Given the description of an element on the screen output the (x, y) to click on. 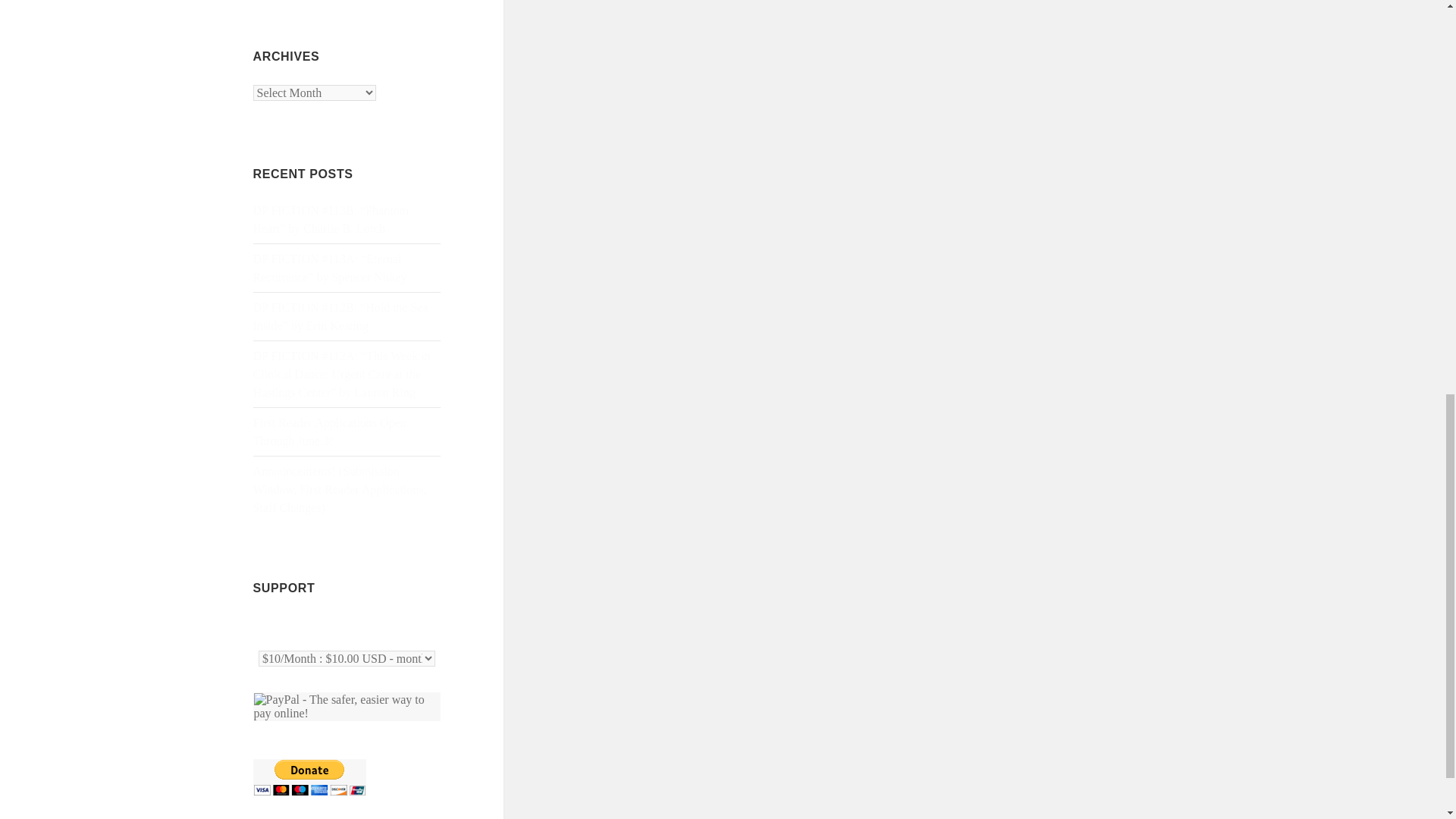
First Reader Applications Open Through June 3! (329, 431)
